Given the description of an element on the screen output the (x, y) to click on. 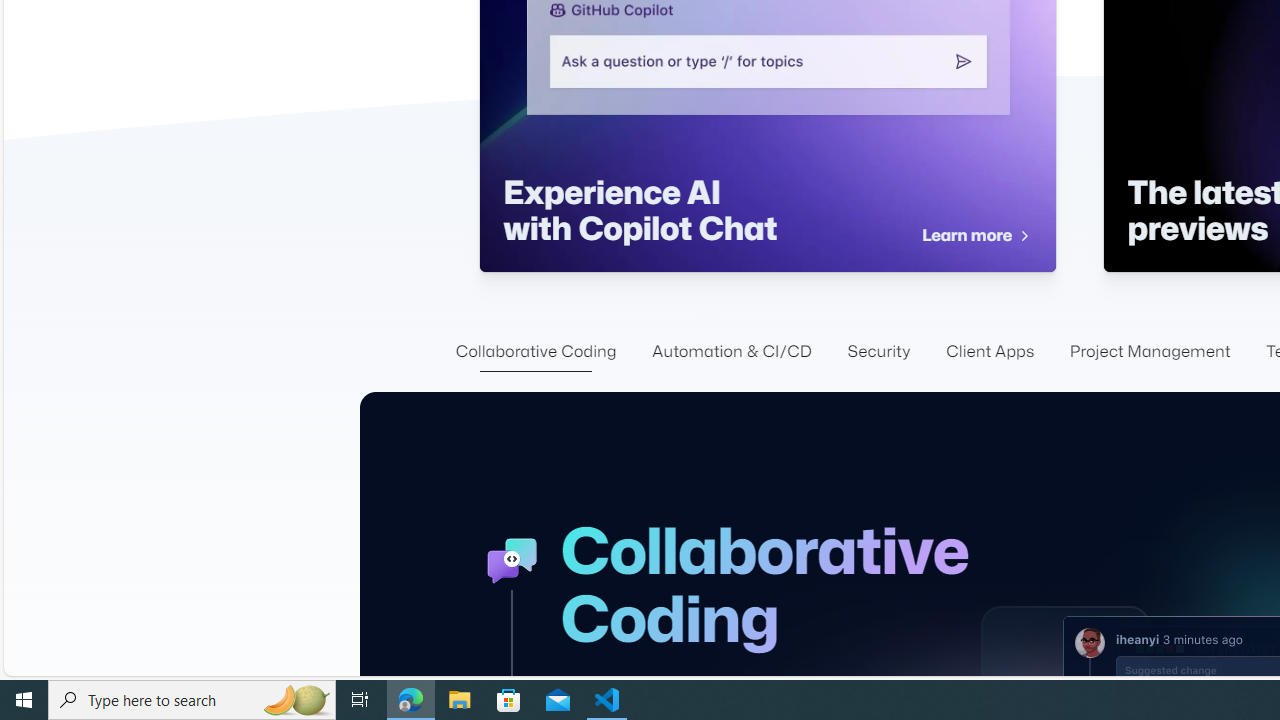
Client Apps (990, 351)
GitHub Collaboration Icon (511, 560)
Project Management (1149, 351)
Collaborative Coding (535, 351)
Class: octicon arrow-symbol-mktg octicon (1023, 236)
Automation & CI/CD (731, 351)
Security (879, 351)
